Given the description of an element on the screen output the (x, y) to click on. 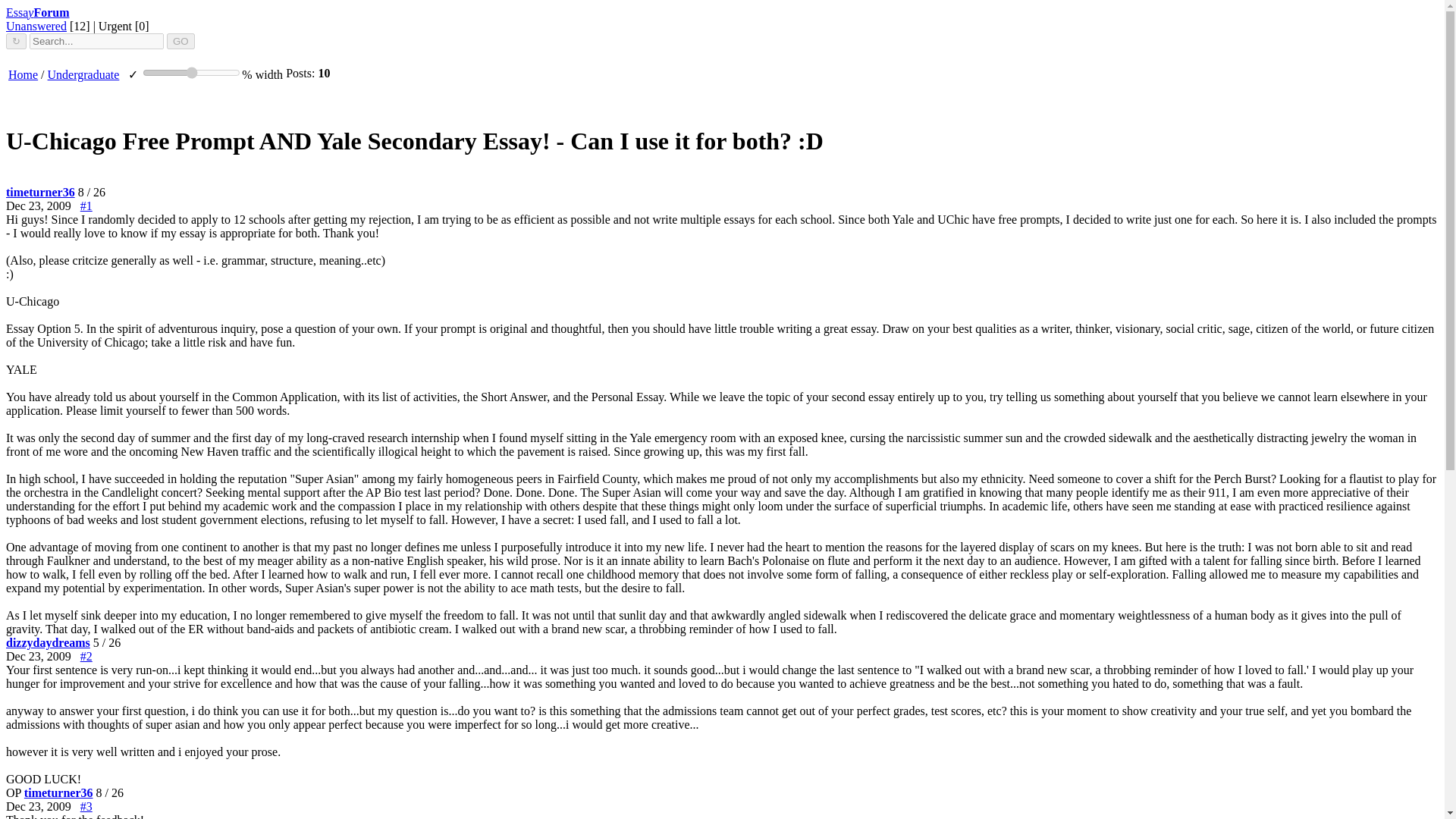
60 (191, 72)
Home (22, 74)
GO (181, 41)
EssayForum (37, 11)
timeturner36 (58, 792)
GO (181, 41)
Undergraduate (83, 74)
Unanswered (35, 25)
dizzydaydreams (47, 642)
EssayForum.com (37, 11)
Find on page (15, 41)
timeturner36 (40, 192)
